Given the description of an element on the screen output the (x, y) to click on. 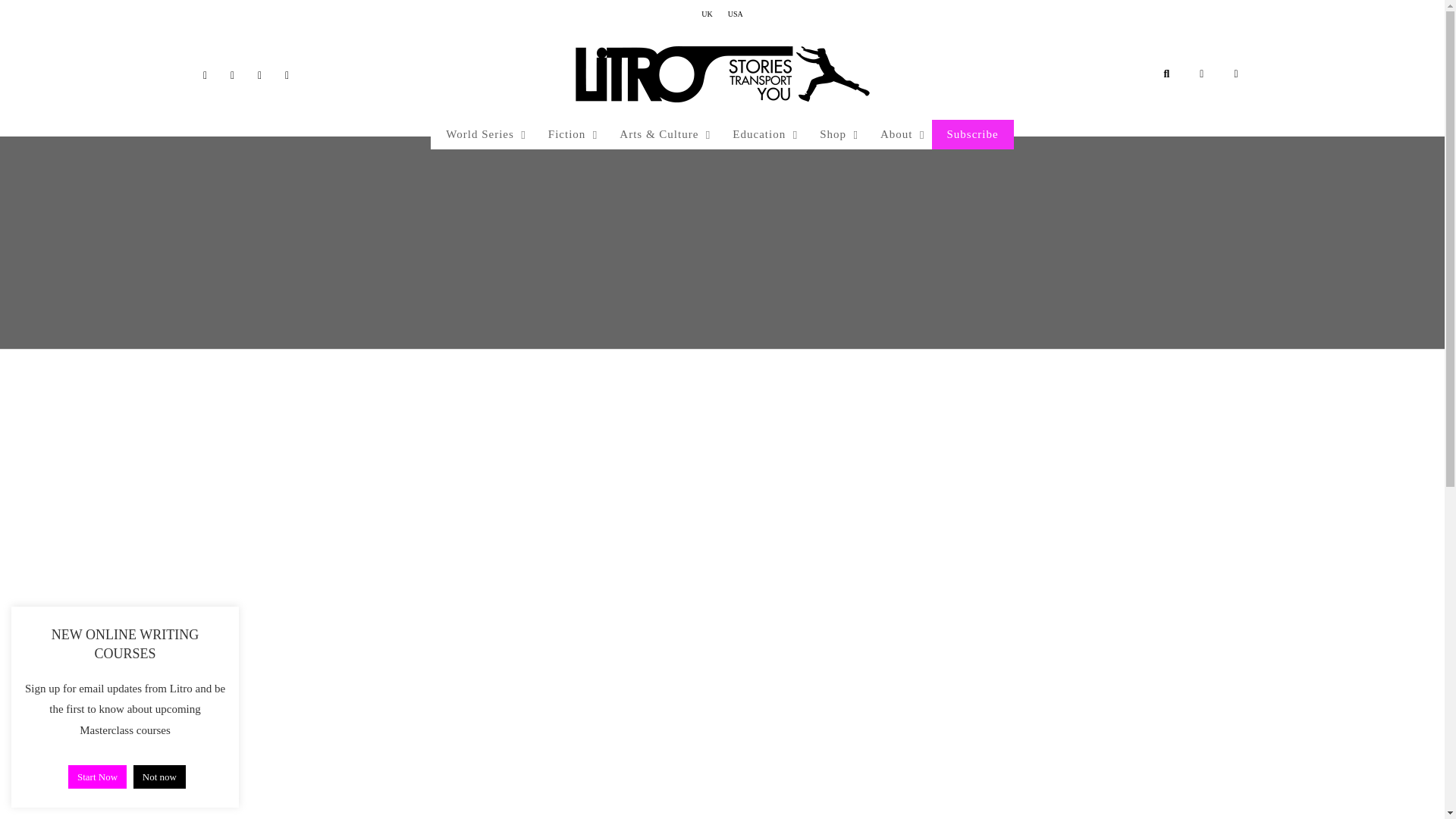
Litro Magazine (722, 74)
World Series (481, 134)
USA (735, 13)
UK (706, 13)
Fiction (568, 134)
